Given the description of an element on the screen output the (x, y) to click on. 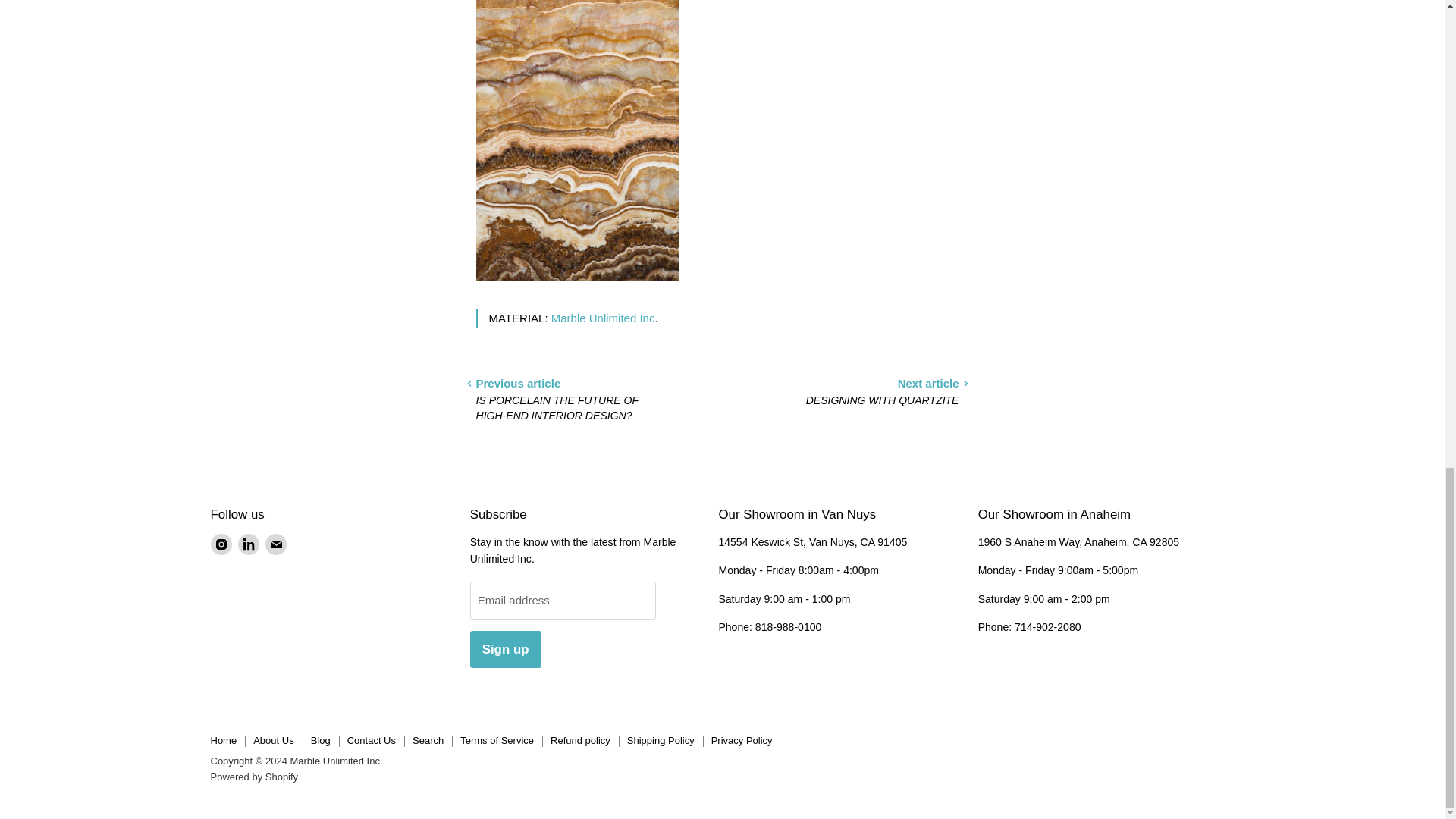
Instagram (221, 544)
LinkedIn (248, 544)
Email (275, 544)
Marble Unlimited Inc (603, 318)
